Given the description of an element on the screen output the (x, y) to click on. 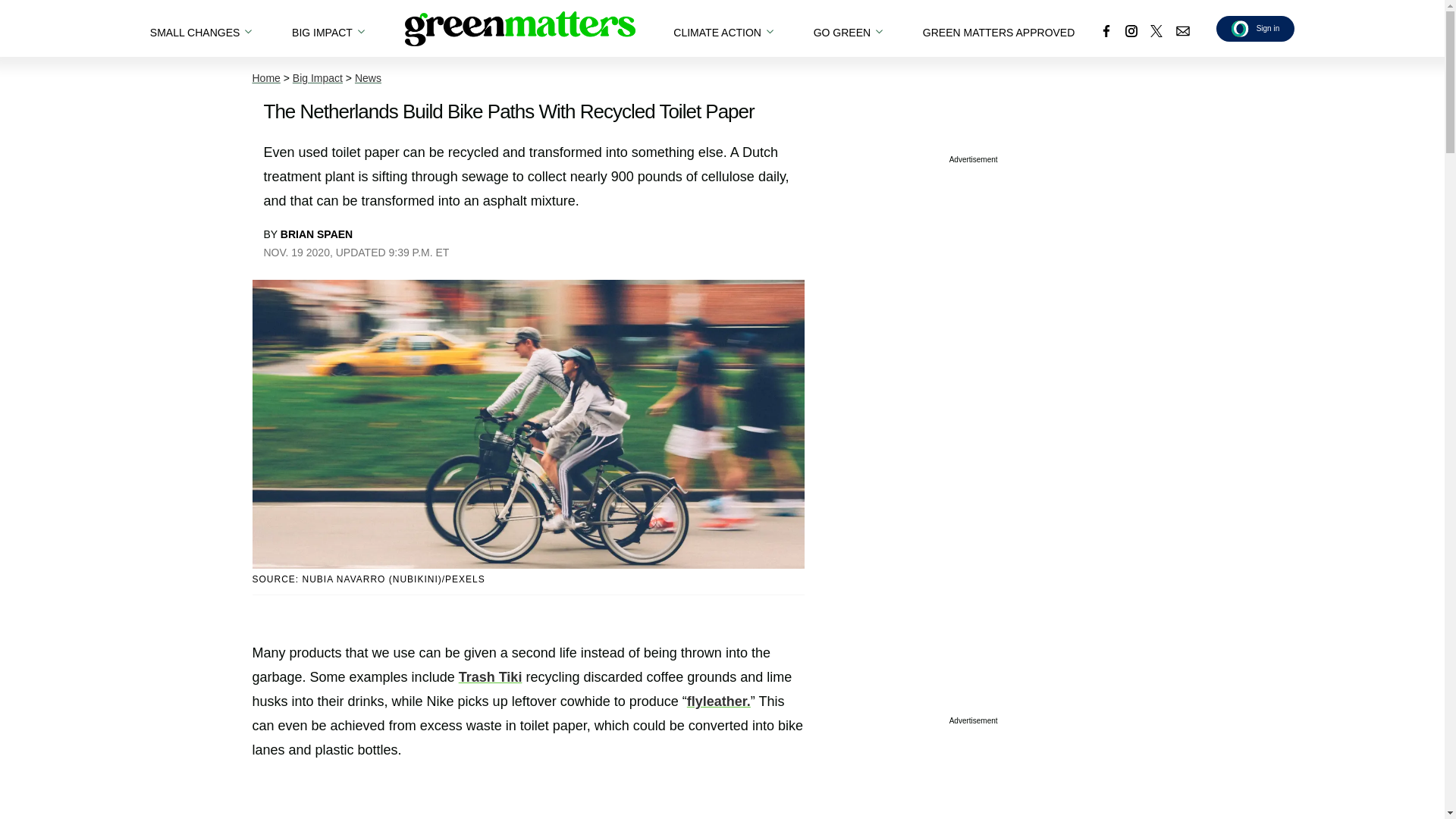
LINK TO EMAIL SUBSCRIBE (1182, 30)
LINK TO INSTAGRAM (1131, 30)
LINK TO FACEBOOK (1106, 30)
GREEN MATTERS APPROVED (998, 27)
LINK TO X (1155, 30)
OpenPass Logo (1240, 27)
Sign in (1255, 27)
